Given the description of an element on the screen output the (x, y) to click on. 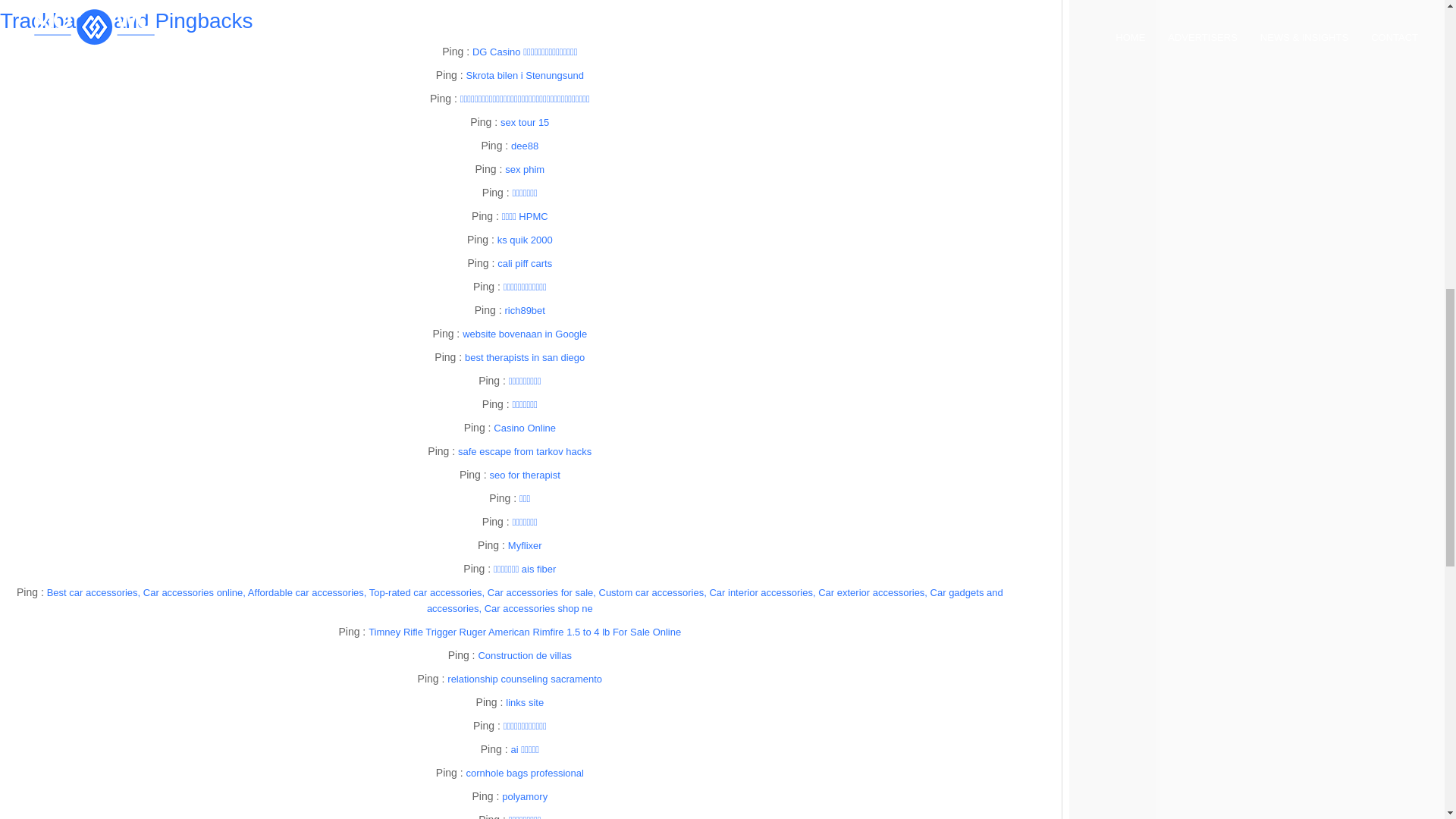
seo for therapist (524, 474)
sex phim (524, 169)
Casino Online (524, 428)
rich89bet (523, 310)
best therapists in san diego (524, 357)
dee88 (524, 145)
sex tour 15 (524, 122)
ks quik 2000 (525, 239)
cali piff carts (524, 263)
Myflixer (524, 545)
safe escape from tarkov hacks (524, 451)
website bovenaan in Google (524, 333)
Skrota bilen i Stenungsund (524, 75)
